Given the description of an element on the screen output the (x, y) to click on. 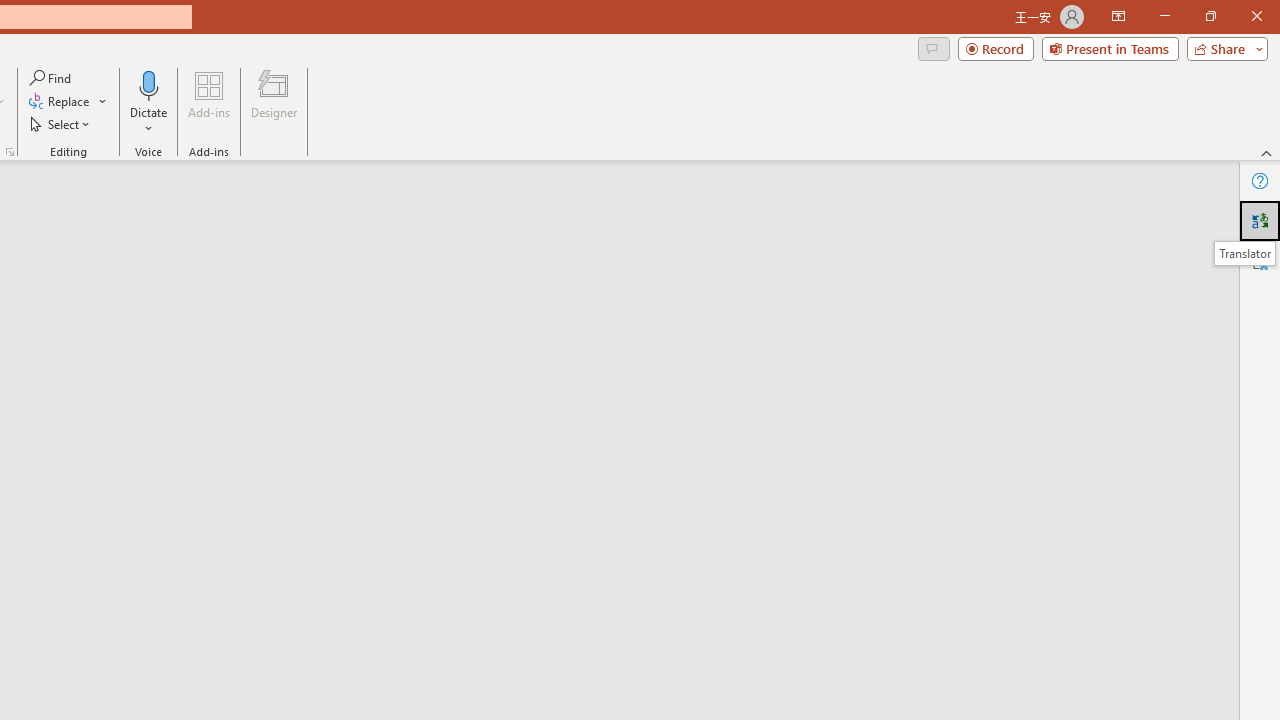
Translator (1244, 253)
Restore Down (1210, 16)
Minimize (1164, 16)
Replace... (60, 101)
More Options (149, 121)
Dictate (149, 84)
Dictate (149, 102)
Ribbon Display Options (1118, 16)
Comments (933, 48)
Replace... (68, 101)
Accessibility (1260, 260)
Find... (51, 78)
Collapse the Ribbon (1267, 152)
